Given the description of an element on the screen output the (x, y) to click on. 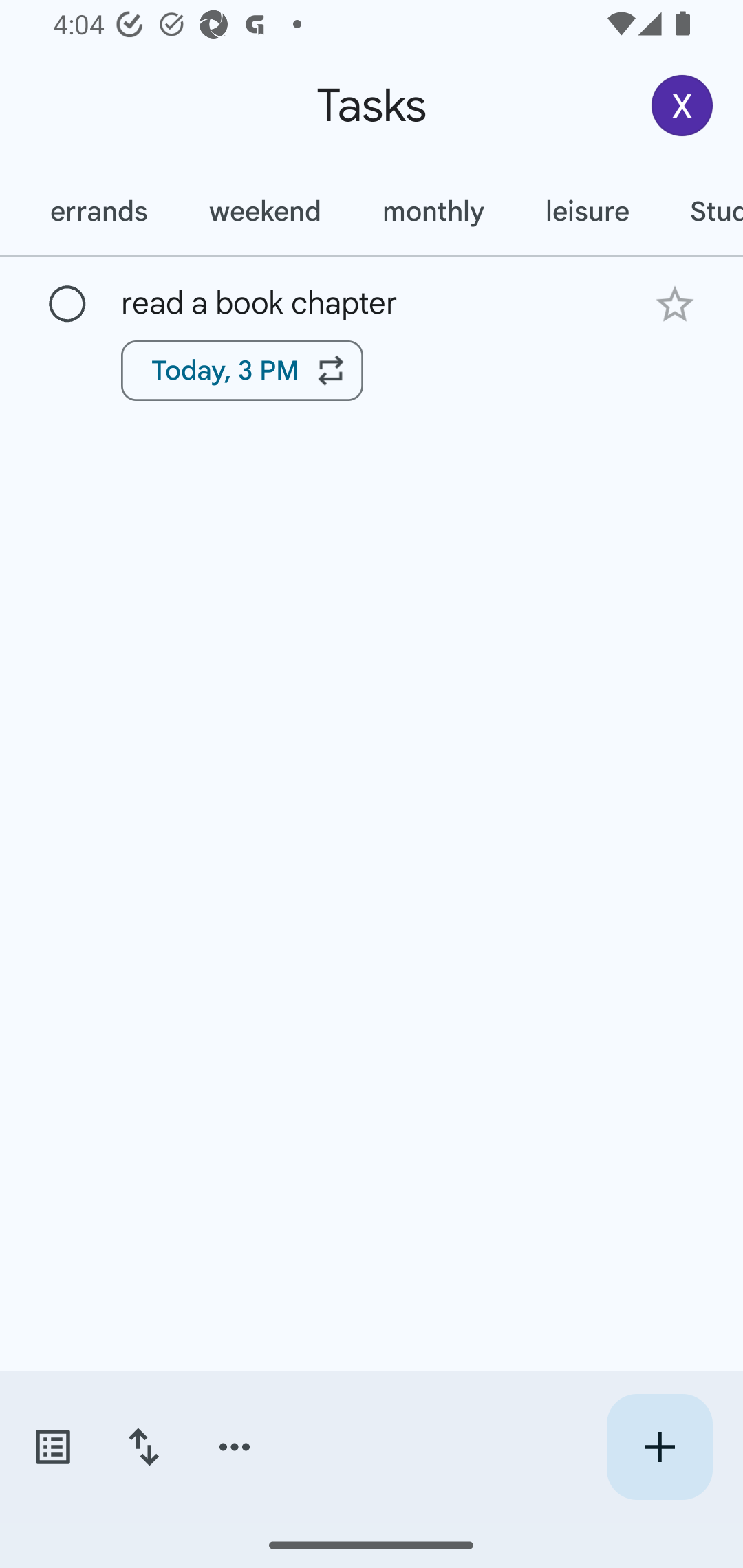
errands (98, 211)
weekend (264, 211)
monthly (432, 211)
leisure (586, 211)
Study (701, 211)
Add star (674, 303)
Mark as complete (67, 304)
Today, 3 PM (242, 369)
Switch task lists (52, 1447)
Create new task (659, 1446)
Change sort order (143, 1446)
More options (234, 1446)
